Given the description of an element on the screen output the (x, y) to click on. 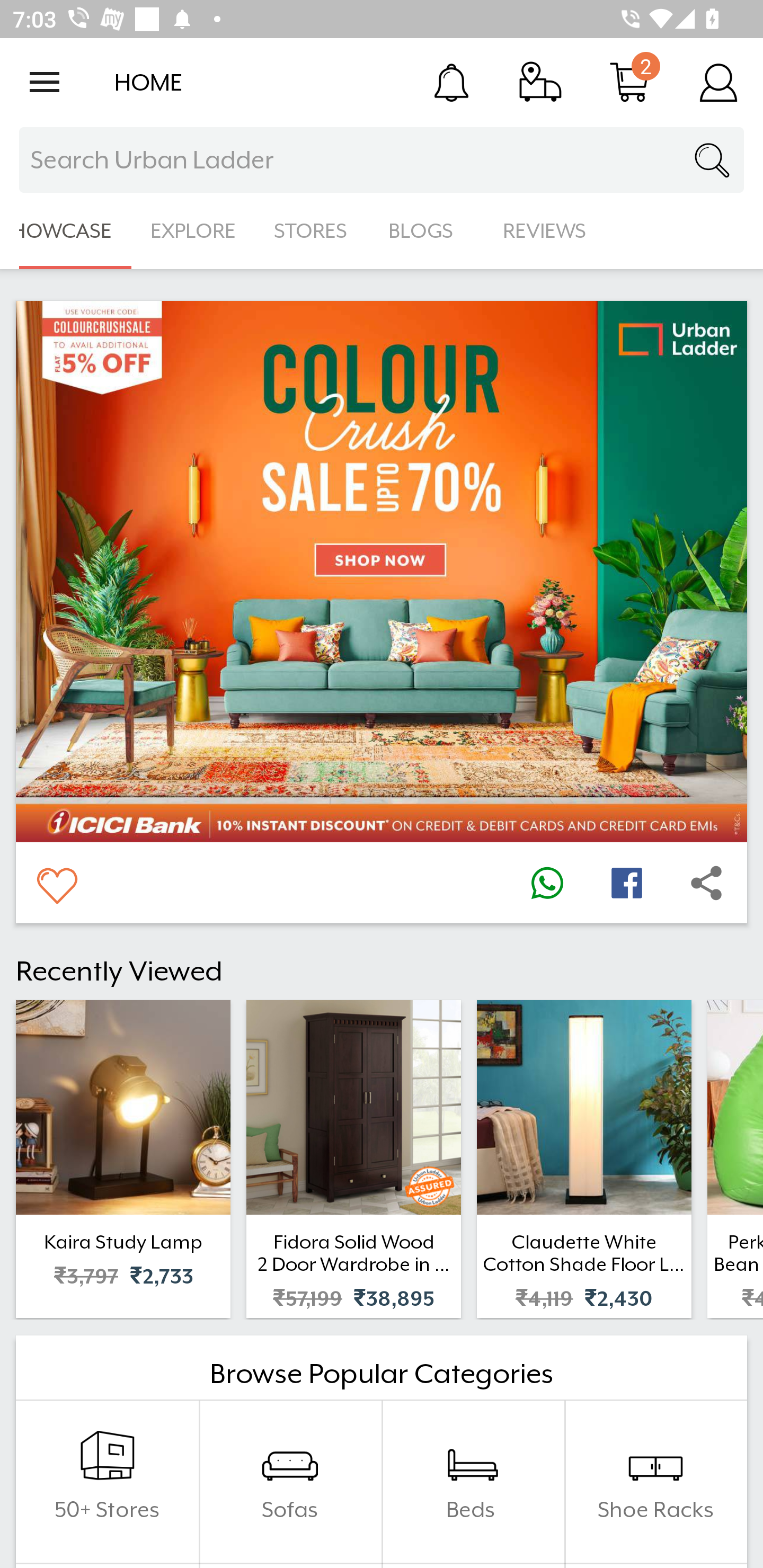
Open navigation drawer (44, 82)
Notification (450, 81)
Track Order (540, 81)
Cart (629, 81)
Account Details (718, 81)
Search Urban Ladder  (381, 159)
SHOWCASE (65, 230)
EXPLORE (192, 230)
STORES (311, 230)
BLOGS (426, 230)
REVIEWS (544, 230)
 (55, 882)
 (547, 882)
 (626, 882)
 (706, 882)
Kaira Study Lamp ₹3,797 ₹2,733 (123, 1159)
50+ Stores (106, 1481)
Sofas (289, 1481)
Beds  (473, 1481)
Shoe Racks (655, 1481)
